Given the description of an element on the screen output the (x, y) to click on. 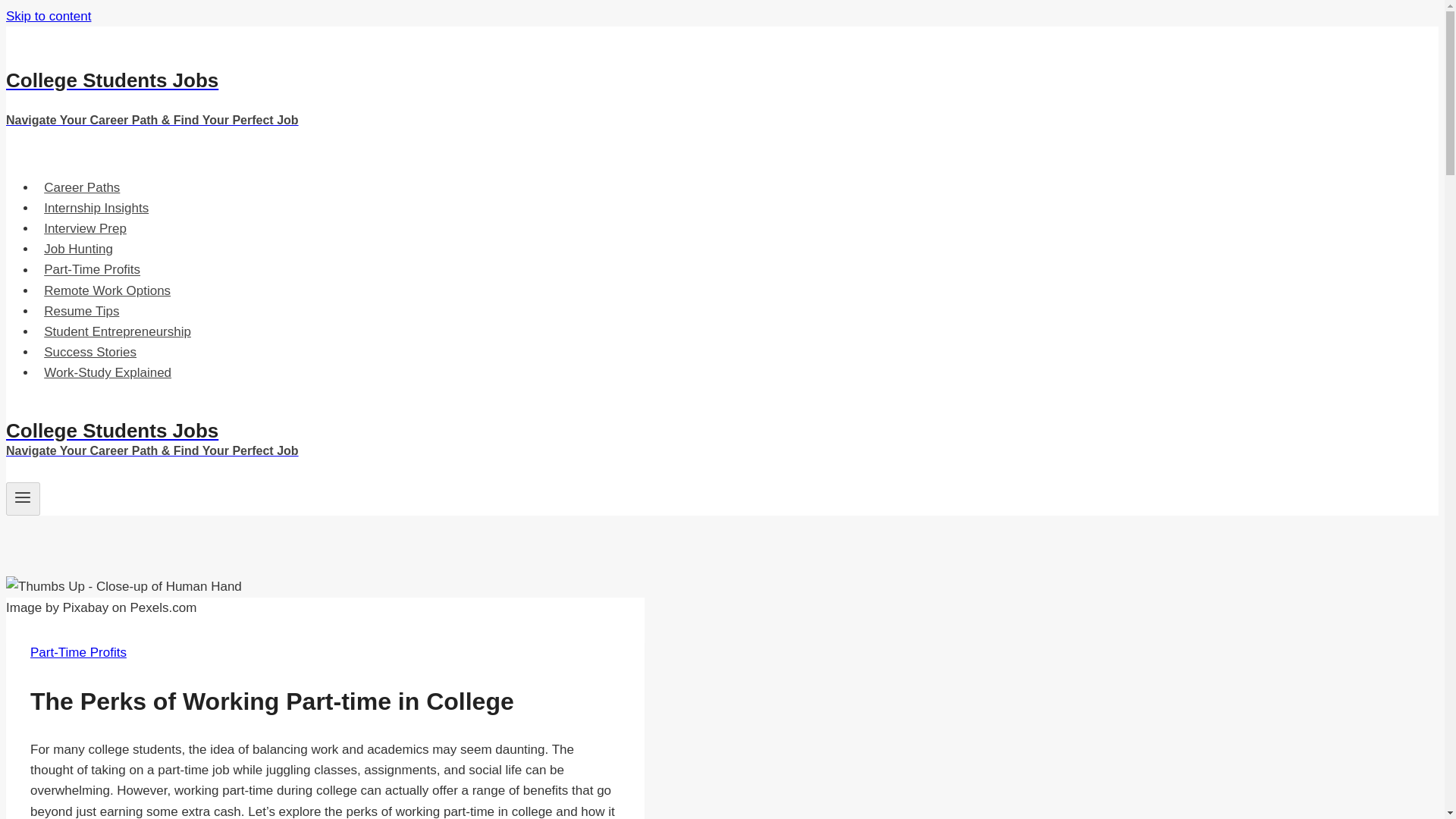
Toggle Menu (22, 497)
Skip to content (47, 16)
Part-Time Profits (92, 269)
Job Hunting (78, 248)
Internship Insights (95, 207)
Student Entrepreneurship (117, 331)
Resume Tips (82, 310)
Interview Prep (84, 228)
Skip to content (47, 16)
Work-Study Explained (107, 372)
Part-Time Profits (78, 652)
Success Stories (90, 351)
Remote Work Options (106, 290)
Toggle Menu (22, 498)
Career Paths (82, 187)
